Given the description of an element on the screen output the (x, y) to click on. 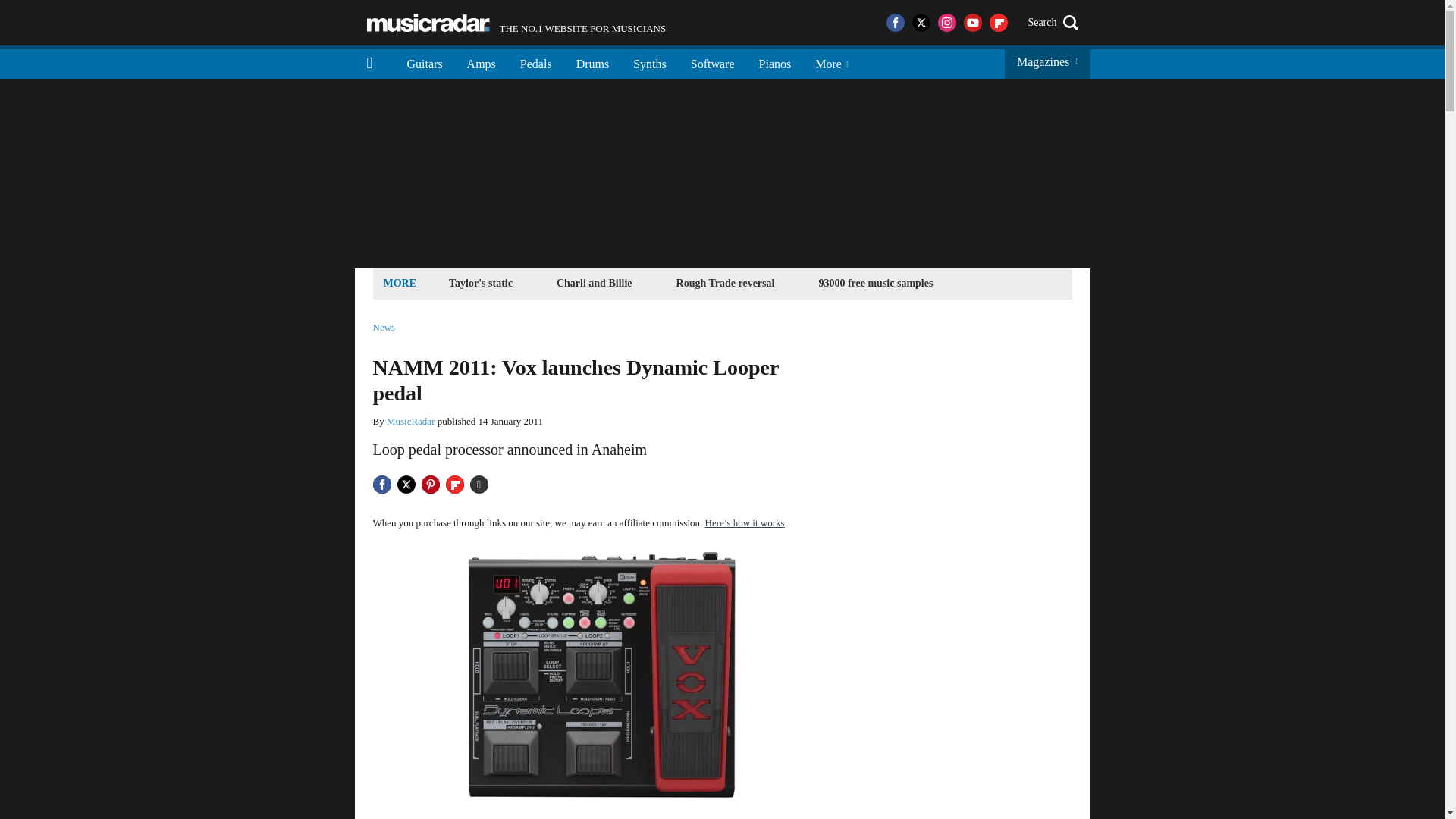
MusicRadar (411, 420)
Rough Trade reversal (725, 282)
Software (712, 61)
Amps (481, 61)
Pianos (774, 61)
Taylor's static (481, 282)
Guitars (424, 61)
Synths (649, 61)
93000 free music samples (516, 22)
